Given the description of an element on the screen output the (x, y) to click on. 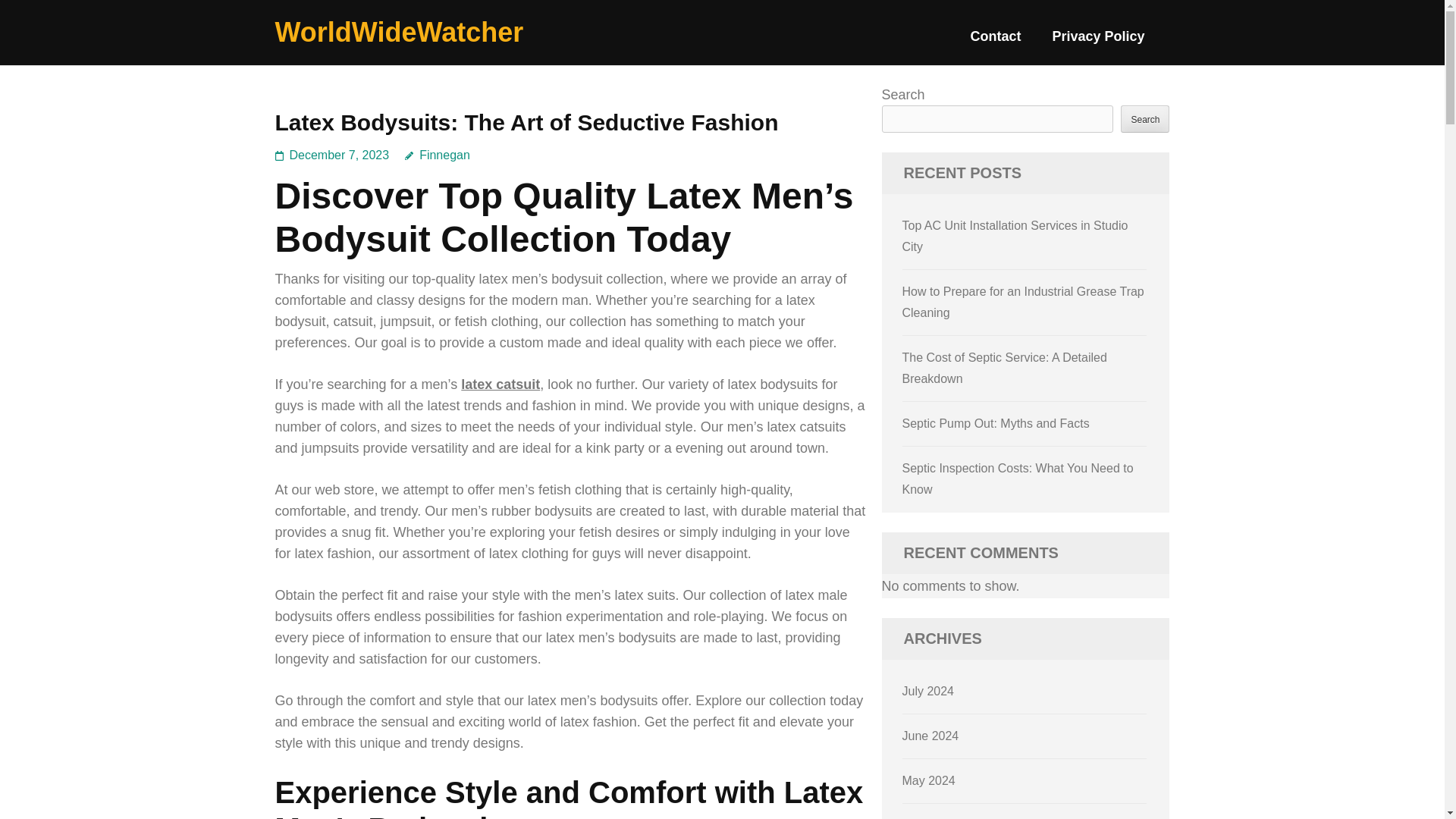
latex catsuit (500, 384)
Top AC Unit Installation Services in Studio City (1015, 236)
WorldWideWatcher (398, 31)
May 2024 (928, 780)
Septic Inspection Costs: What You Need to Know (1018, 478)
December 7, 2023 (339, 154)
Privacy Policy (1097, 42)
Search (1145, 118)
July 2024 (928, 690)
How to Prepare for an Industrial Grease Trap Cleaning (1023, 302)
Septic Pump Out: Myths and Facts (995, 422)
Contact (994, 42)
Finnegan (437, 154)
June 2024 (930, 735)
The Cost of Septic Service: A Detailed Breakdown (1004, 367)
